Given the description of an element on the screen output the (x, y) to click on. 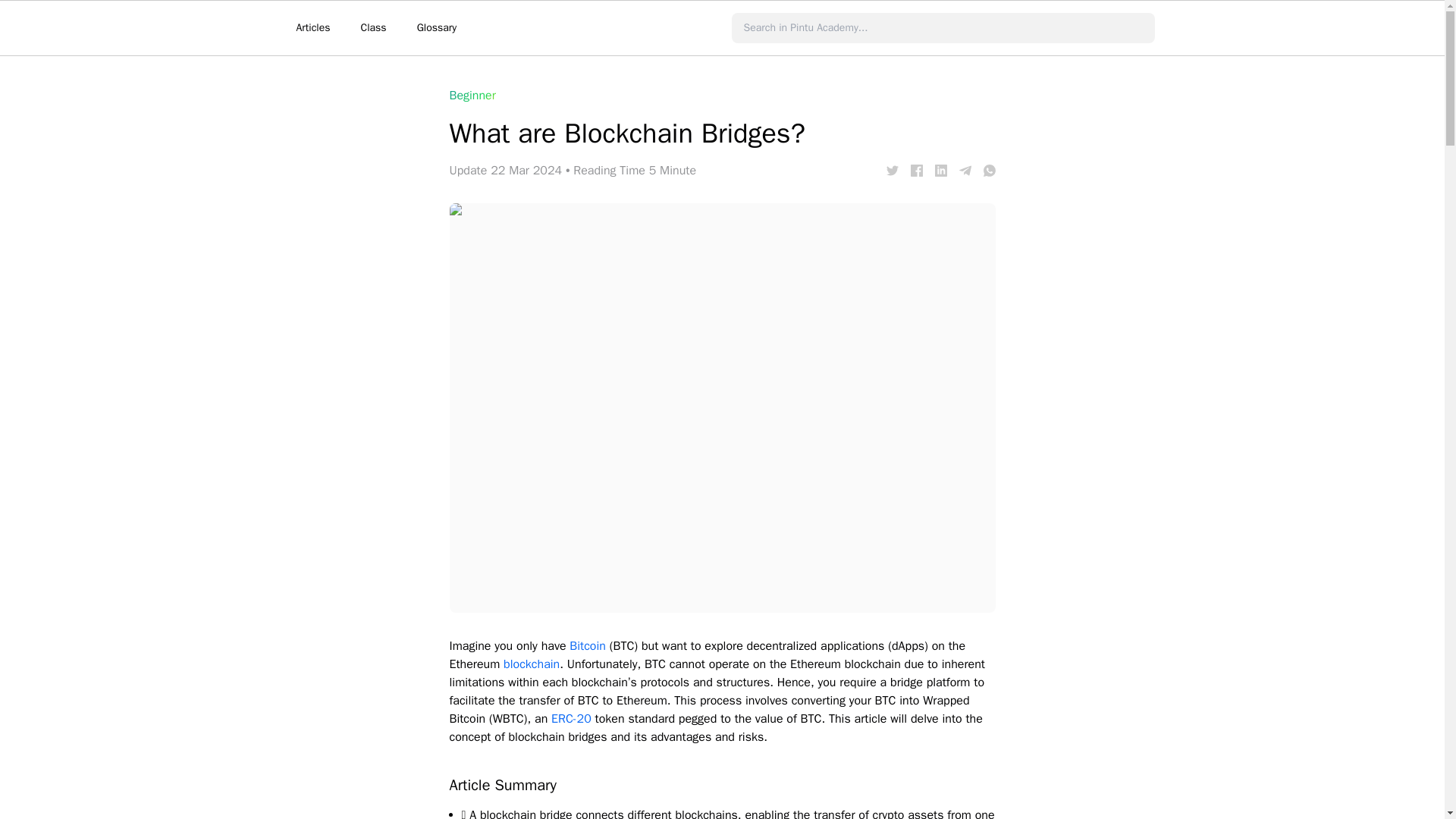
Beginner (471, 95)
blockchain (531, 663)
What are Blockchain Bridges? (915, 170)
Glossary (436, 27)
ERC-20 (571, 718)
Bitcoin (587, 645)
